Given the description of an element on the screen output the (x, y) to click on. 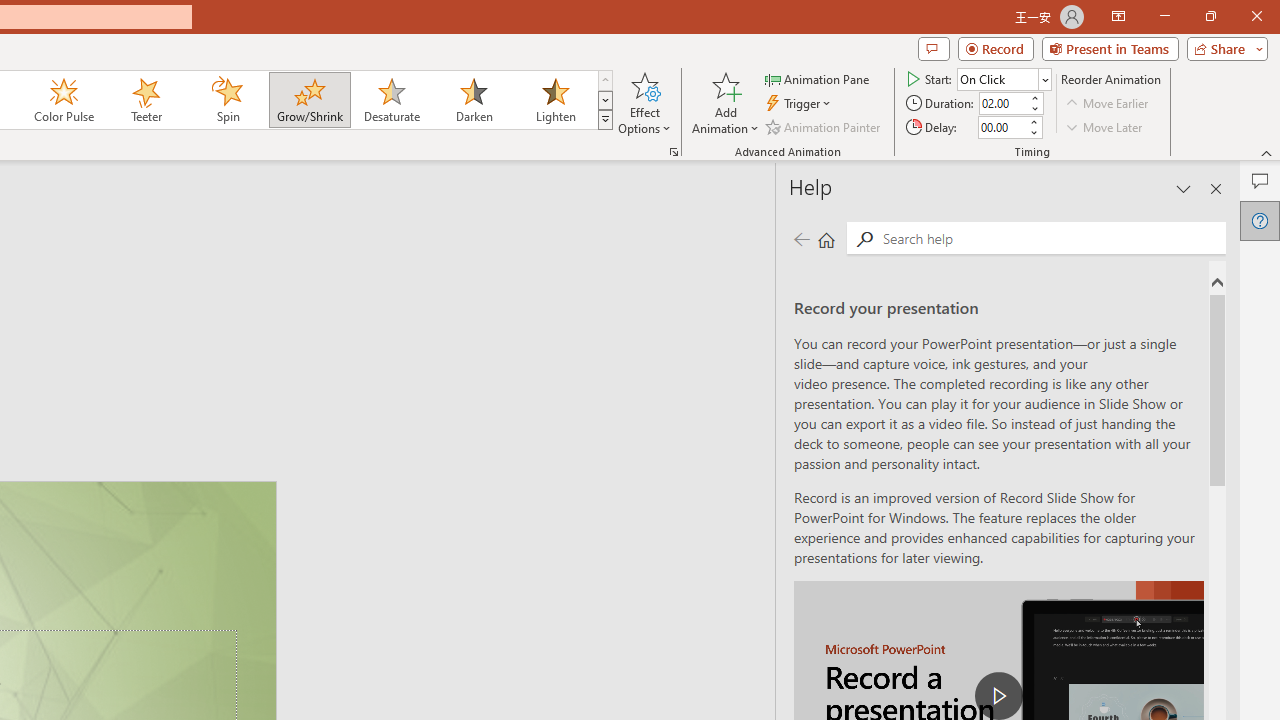
Previous page (801, 238)
Darken (473, 100)
Animation Delay (1002, 127)
Move Later (1105, 126)
Trigger (799, 103)
Move Earlier (1107, 103)
Lighten (555, 100)
Animation Painter (824, 126)
